Given the description of an element on the screen output the (x, y) to click on. 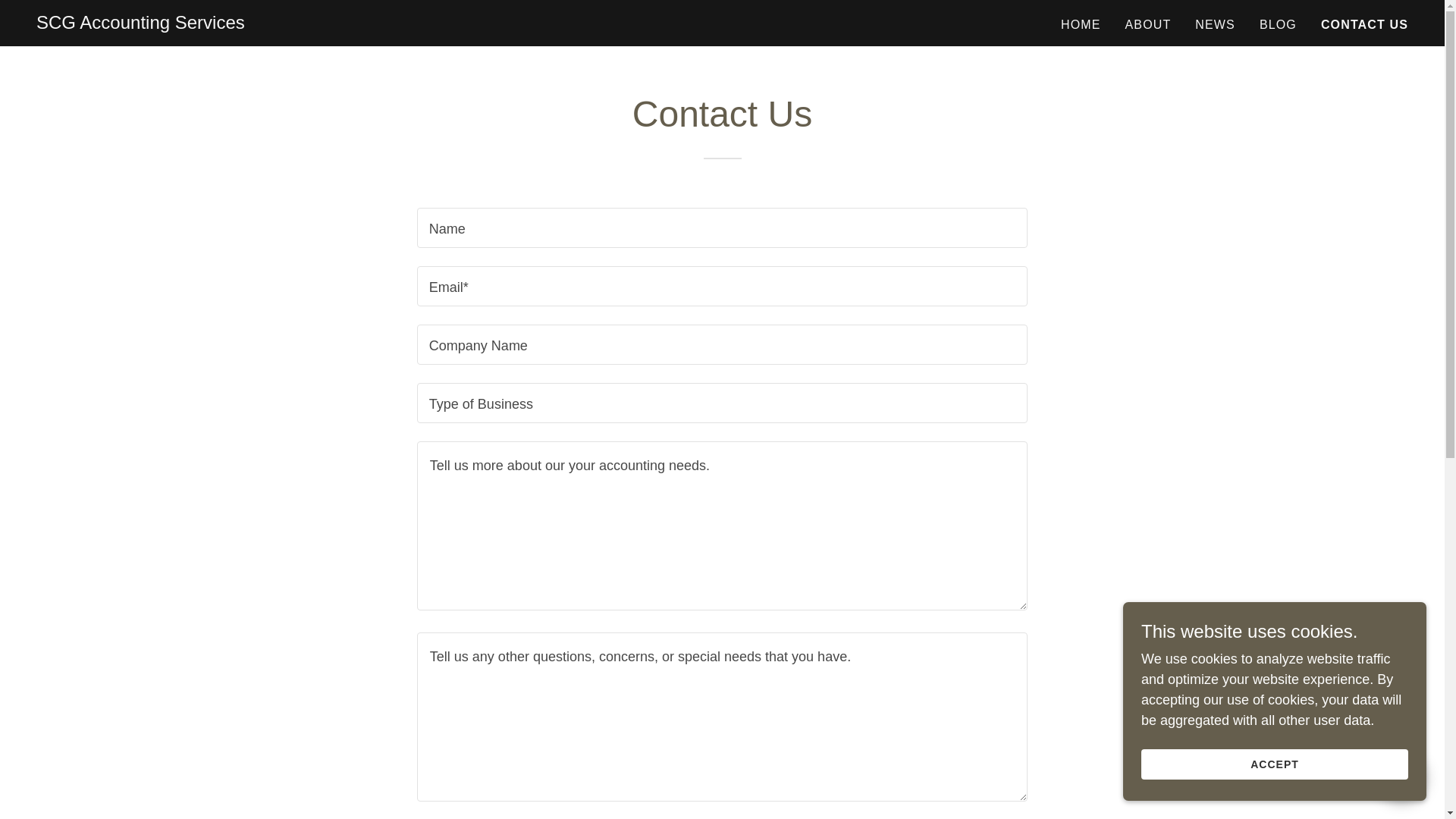
HOME (1081, 24)
SCG Accounting Services (140, 23)
SCG Accounting Services (140, 23)
NEWS (1215, 24)
ABOUT (1148, 24)
ACCEPT (1274, 764)
CONTACT US (1363, 24)
BLOG (1278, 24)
